Given the description of an element on the screen output the (x, y) to click on. 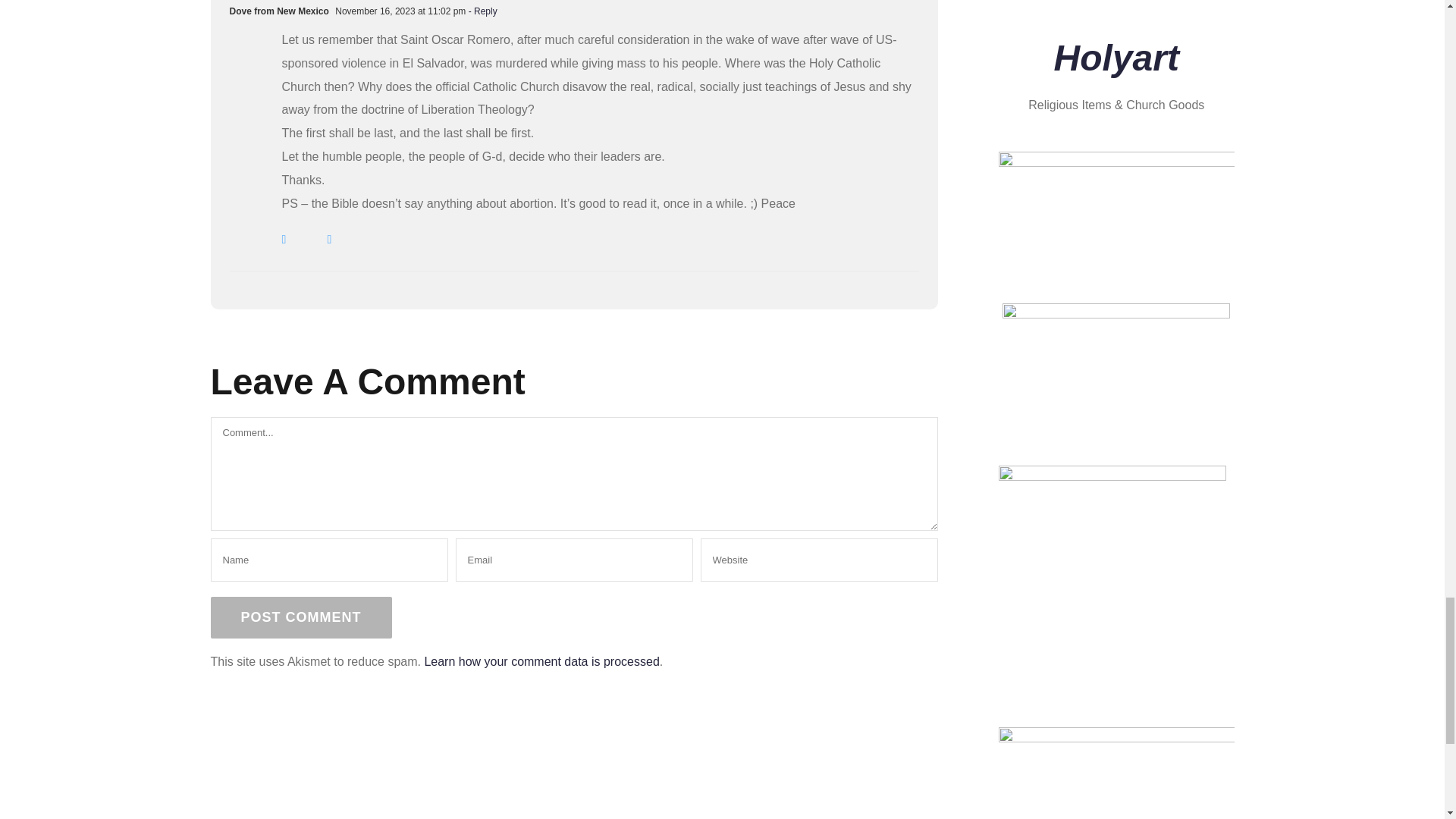
Post Comment (301, 617)
